Given the description of an element on the screen output the (x, y) to click on. 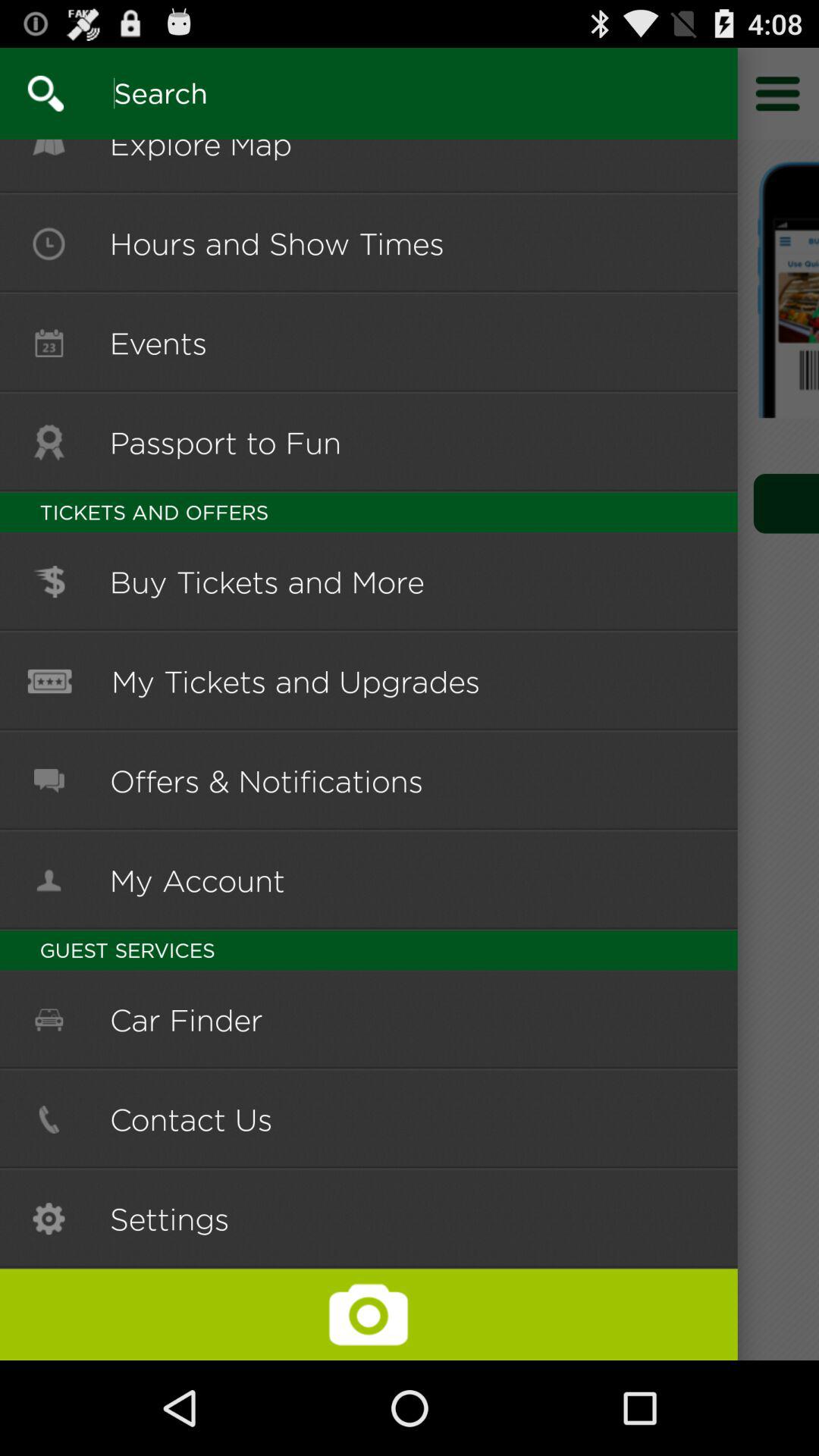
search (359, 92)
